Given the description of an element on the screen output the (x, y) to click on. 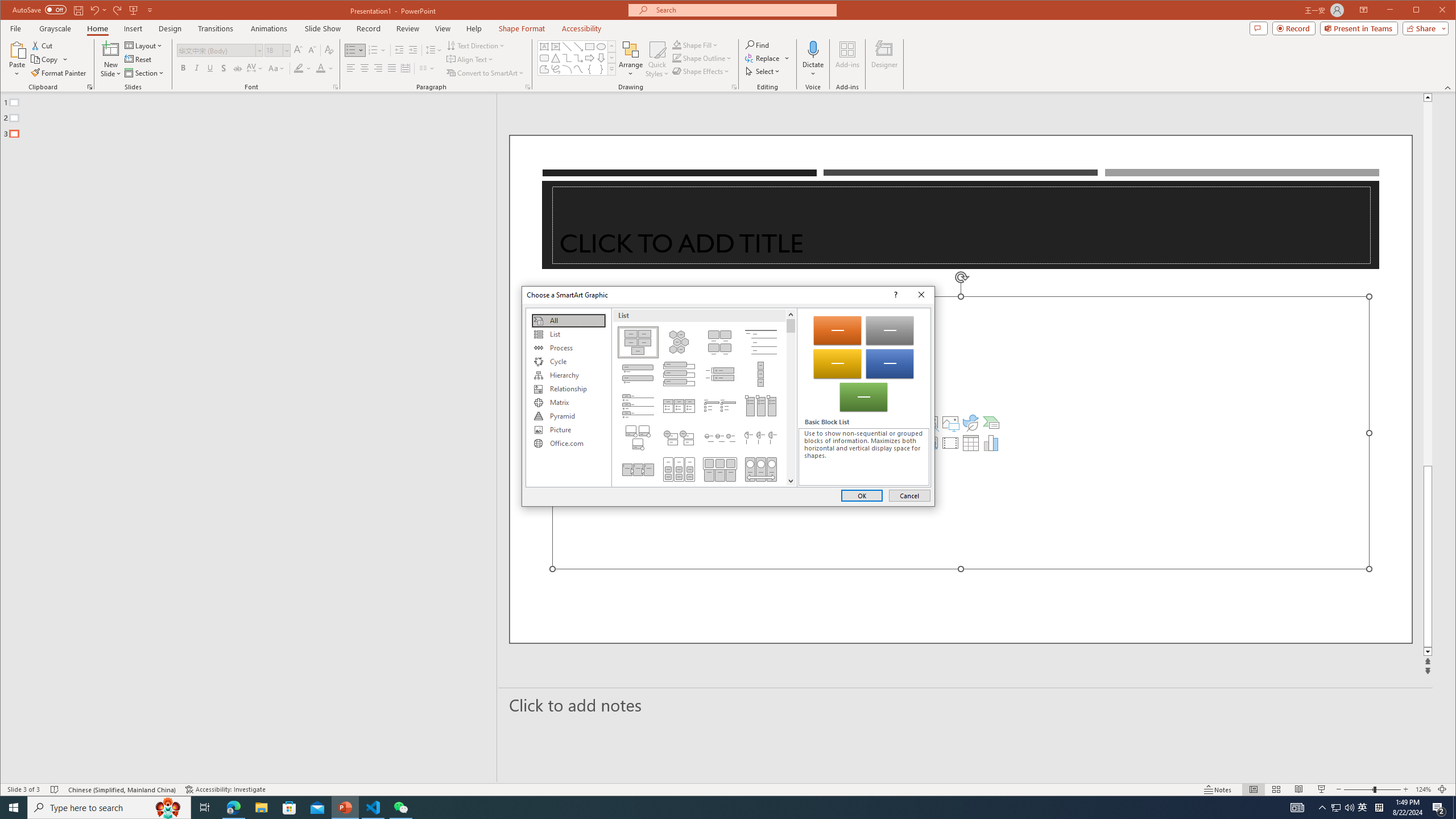
Stacked List (678, 437)
Detailed Process (637, 469)
Relationship (568, 388)
Vertical Bracket List (719, 373)
